Given the description of an element on the screen output the (x, y) to click on. 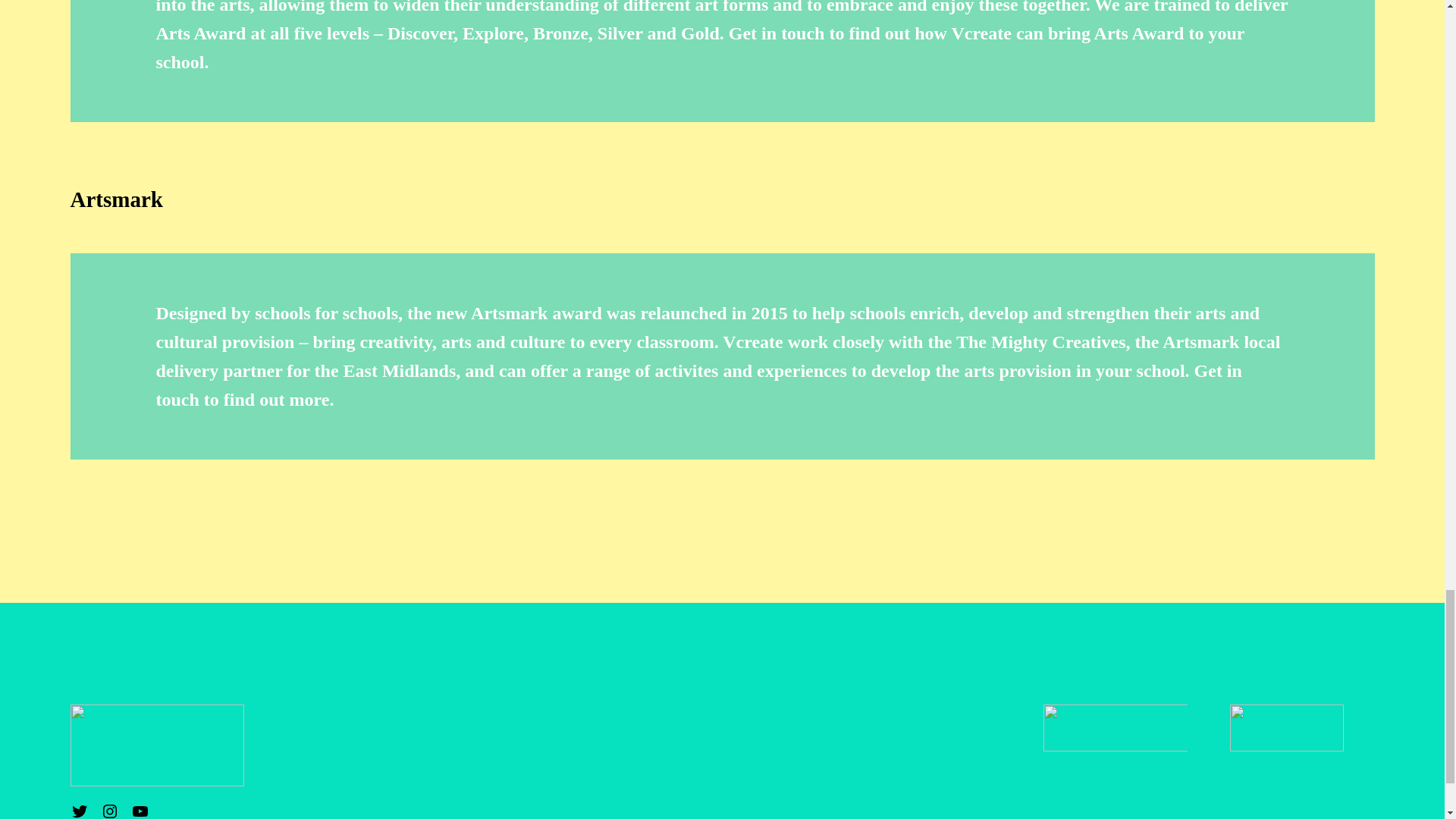
Twitter (78, 810)
YouTube (139, 810)
Instagram (108, 810)
